Given the description of an element on the screen output the (x, y) to click on. 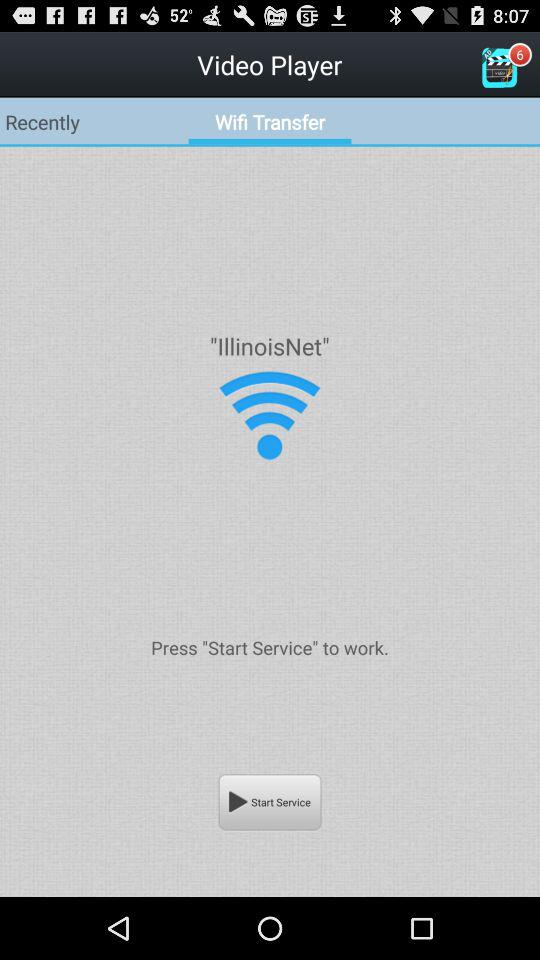
select the icon below the "illinoisnet" (269, 415)
